Given the description of an element on the screen output the (x, y) to click on. 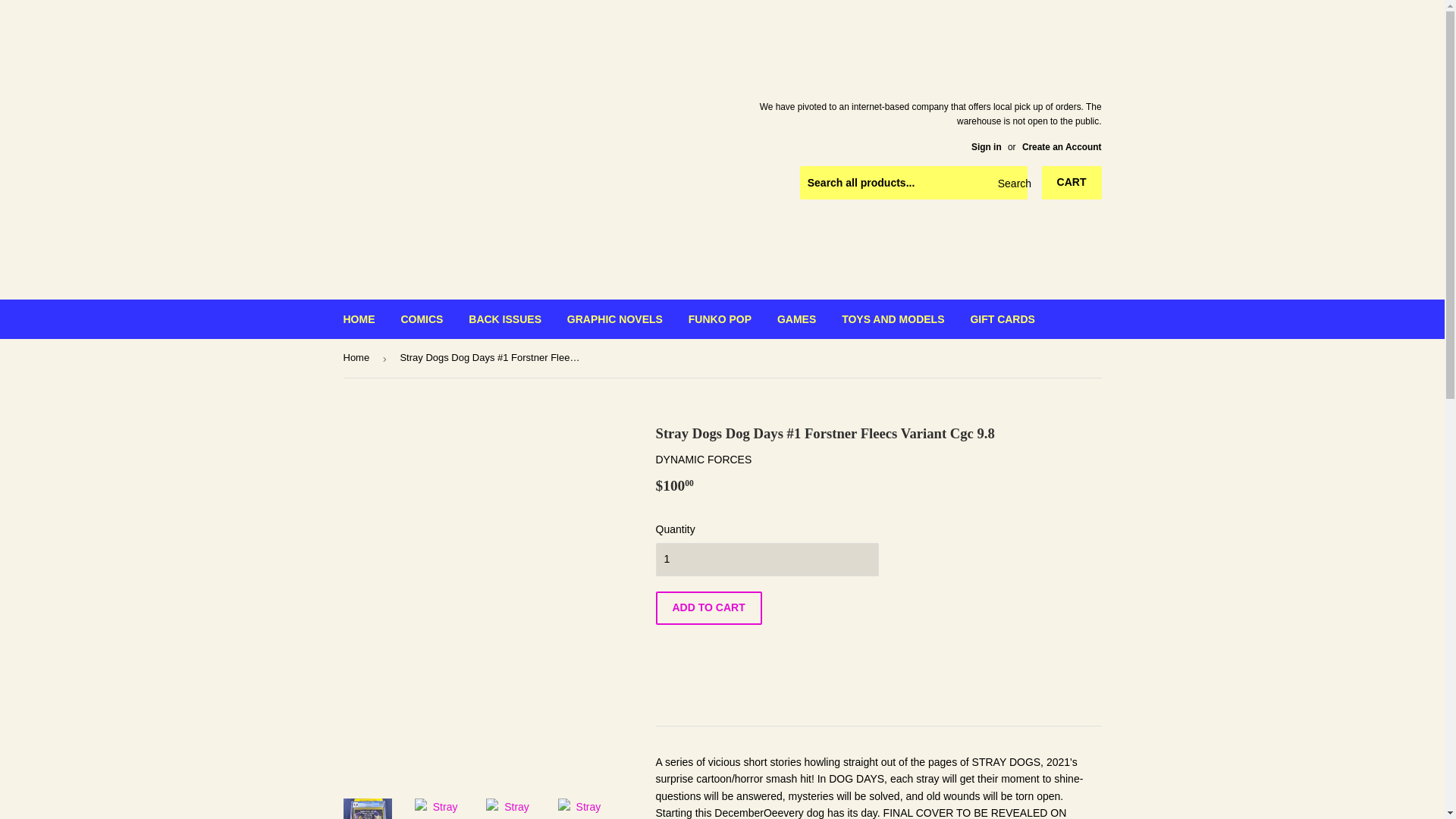
1 (766, 559)
CART (1072, 182)
Back to the frontpage (358, 358)
Sign in (986, 146)
Create an Account (1062, 146)
Search (1009, 183)
